Given the description of an element on the screen output the (x, y) to click on. 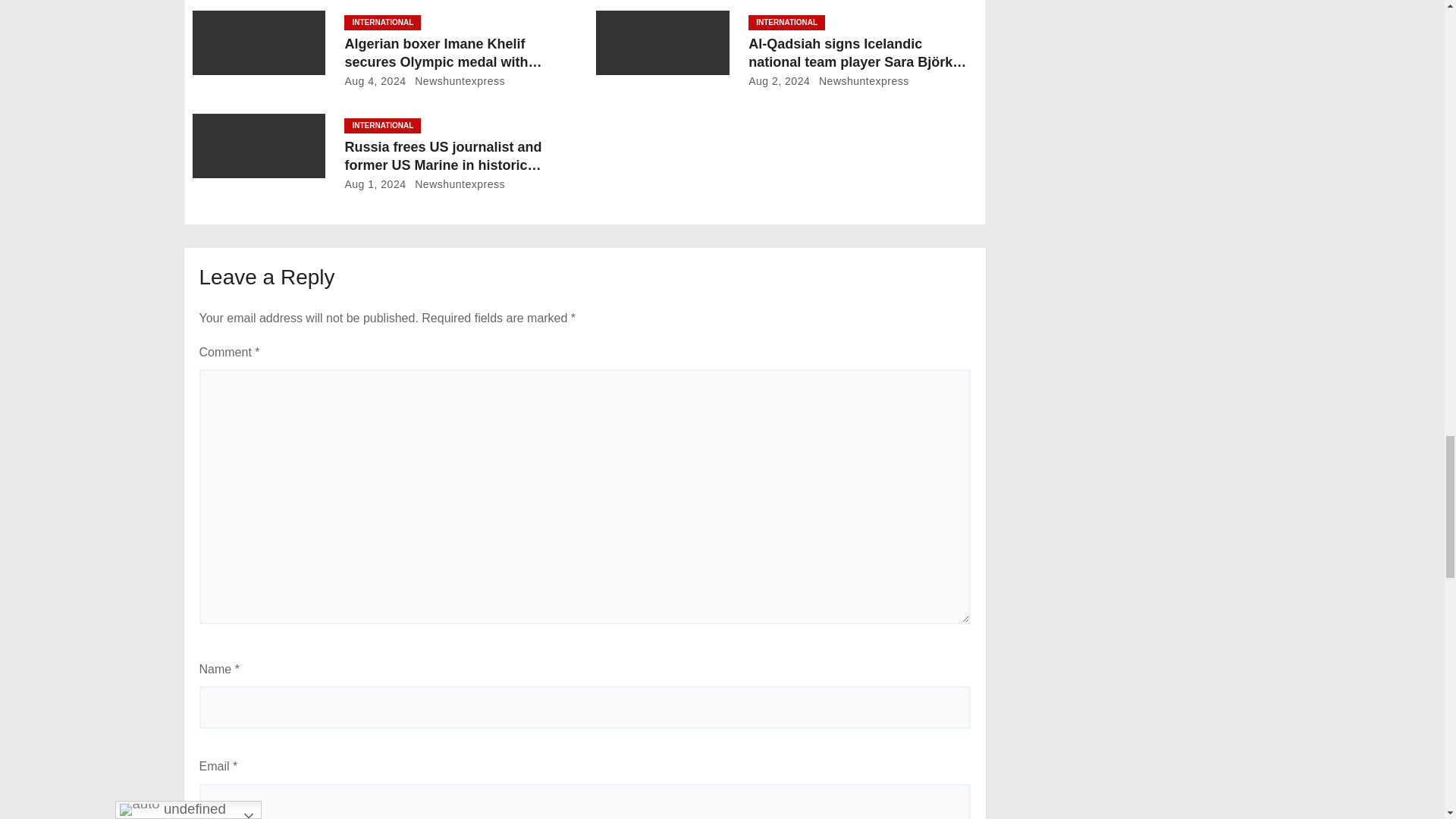
INTERNATIONAL (381, 22)
Newshuntexpress (457, 80)
Aug 4, 2024 (374, 80)
